Given the description of an element on the screen output the (x, y) to click on. 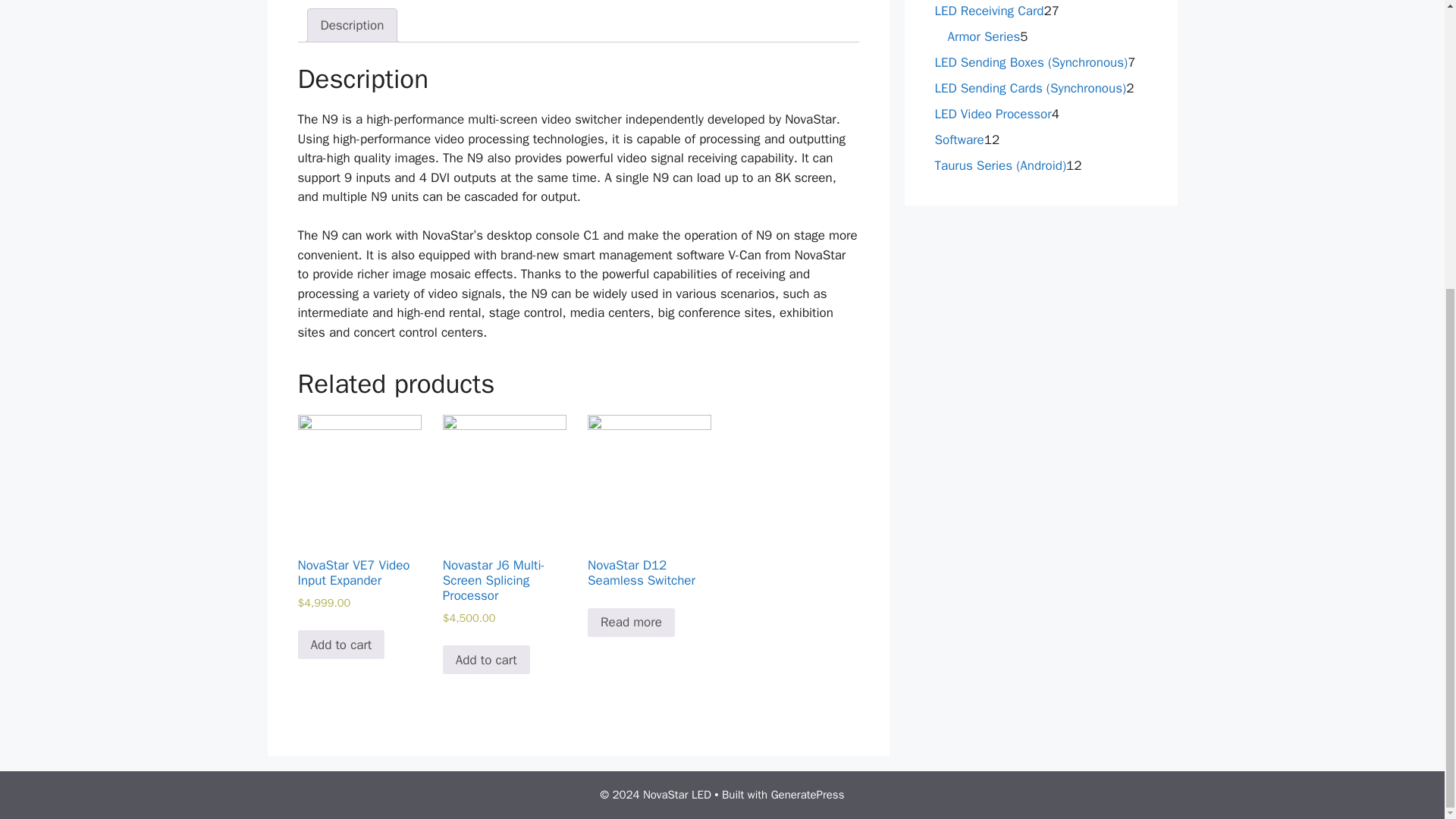
Add to cart (485, 659)
LED Receiving Card (988, 10)
Add to cart (340, 644)
Description (352, 25)
Read more (631, 622)
Armor Series (983, 36)
